Given the description of an element on the screen output the (x, y) to click on. 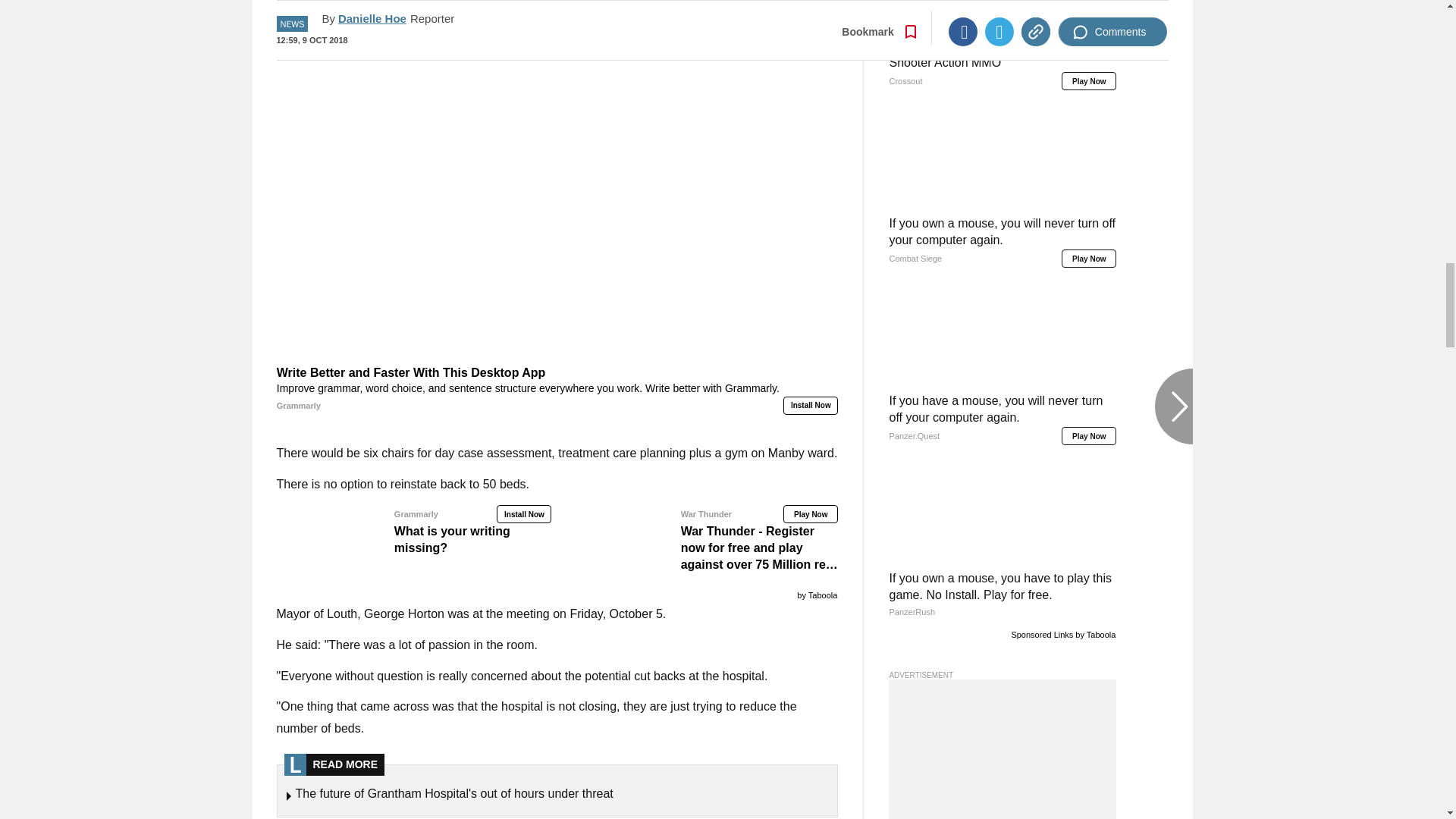
Write Better and Faster With This Desktop App (557, 389)
